Given the description of an element on the screen output the (x, y) to click on. 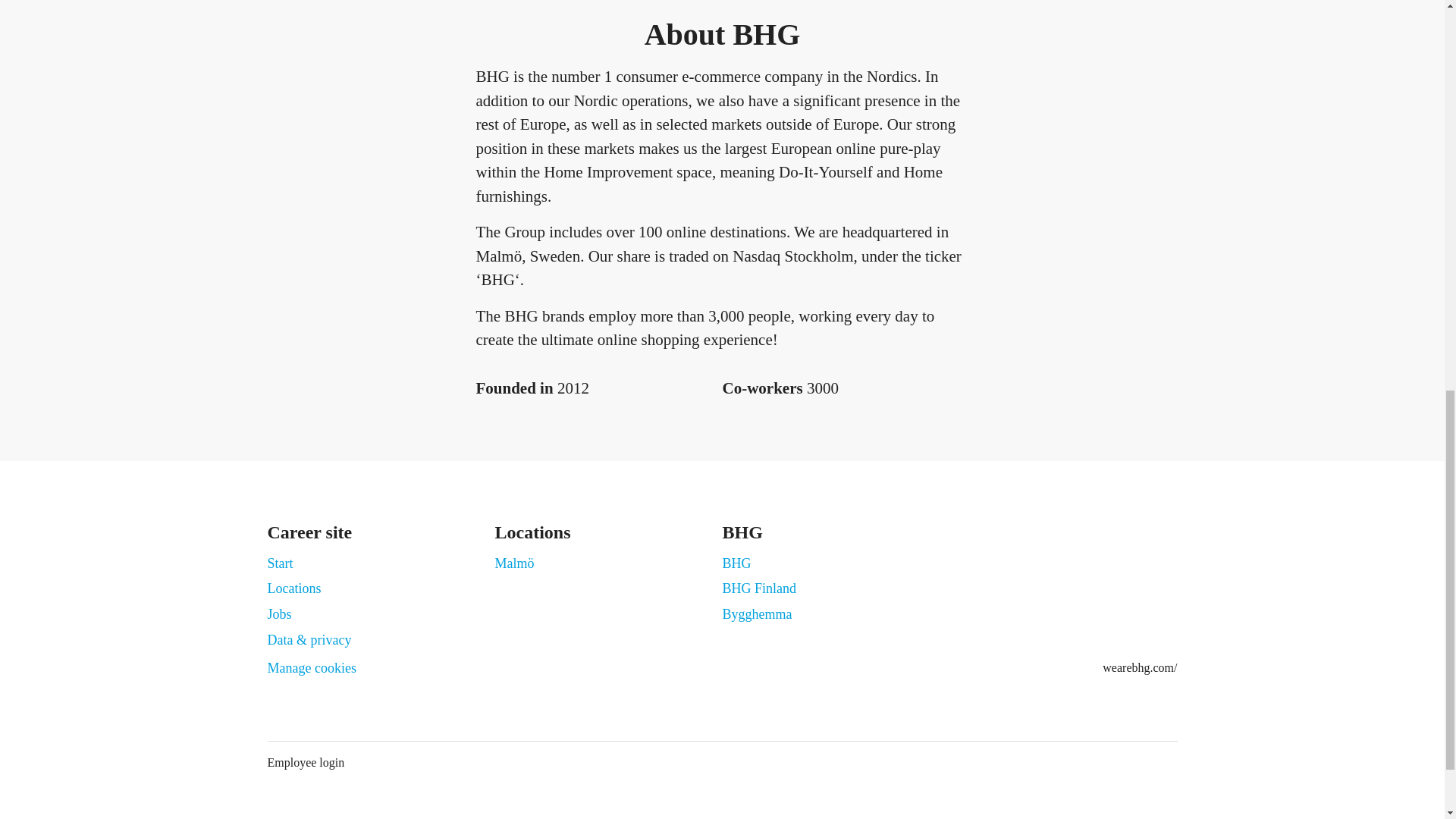
BHG (736, 563)
Jobs (278, 613)
Locations (293, 588)
Bygghemma (757, 613)
Manage cookies (310, 668)
Employee login (304, 762)
Start (279, 563)
BHG Finland (759, 588)
